Given the description of an element on the screen output the (x, y) to click on. 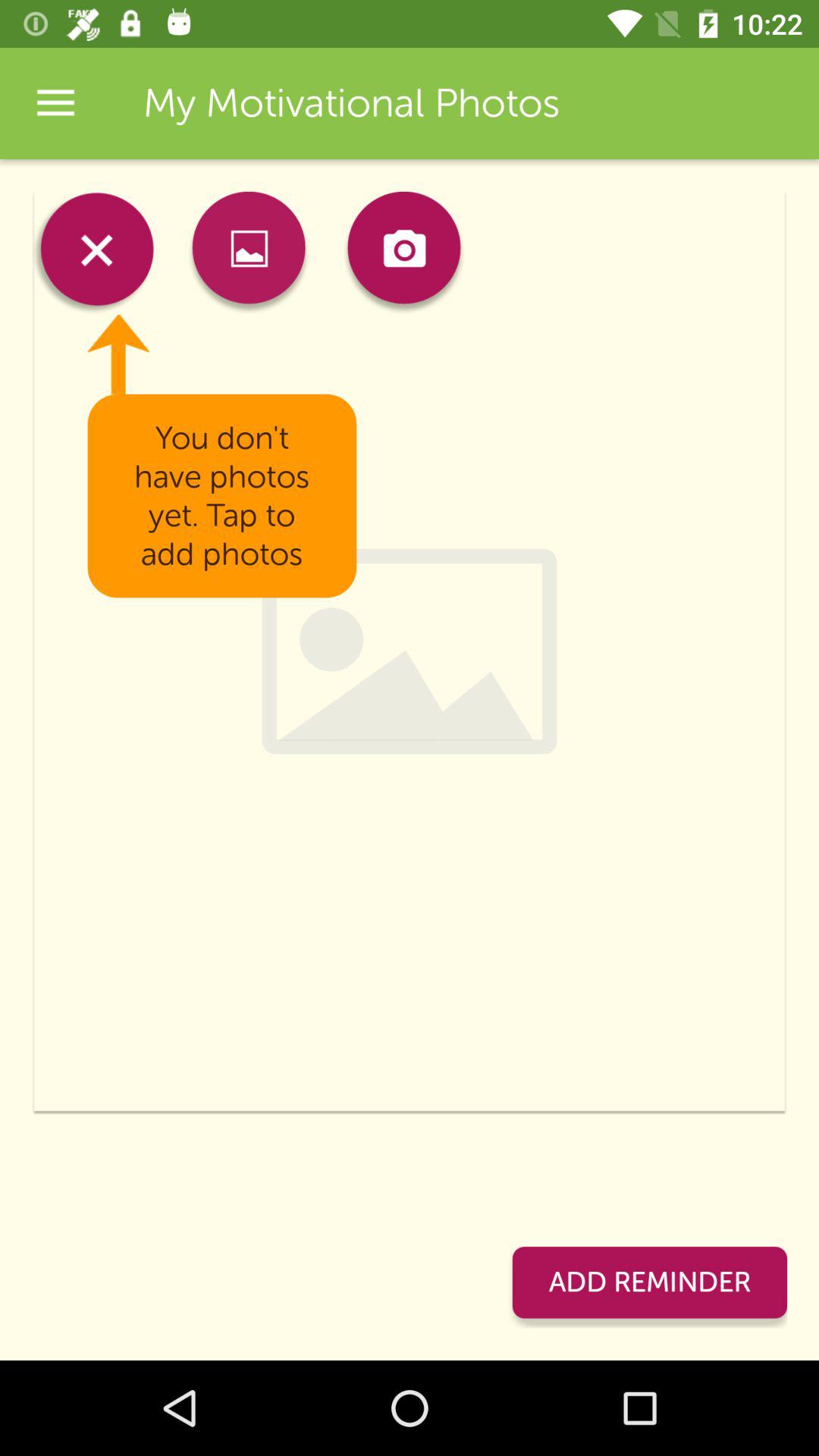
launch the item above you don t icon (403, 252)
